Given the description of an element on the screen output the (x, y) to click on. 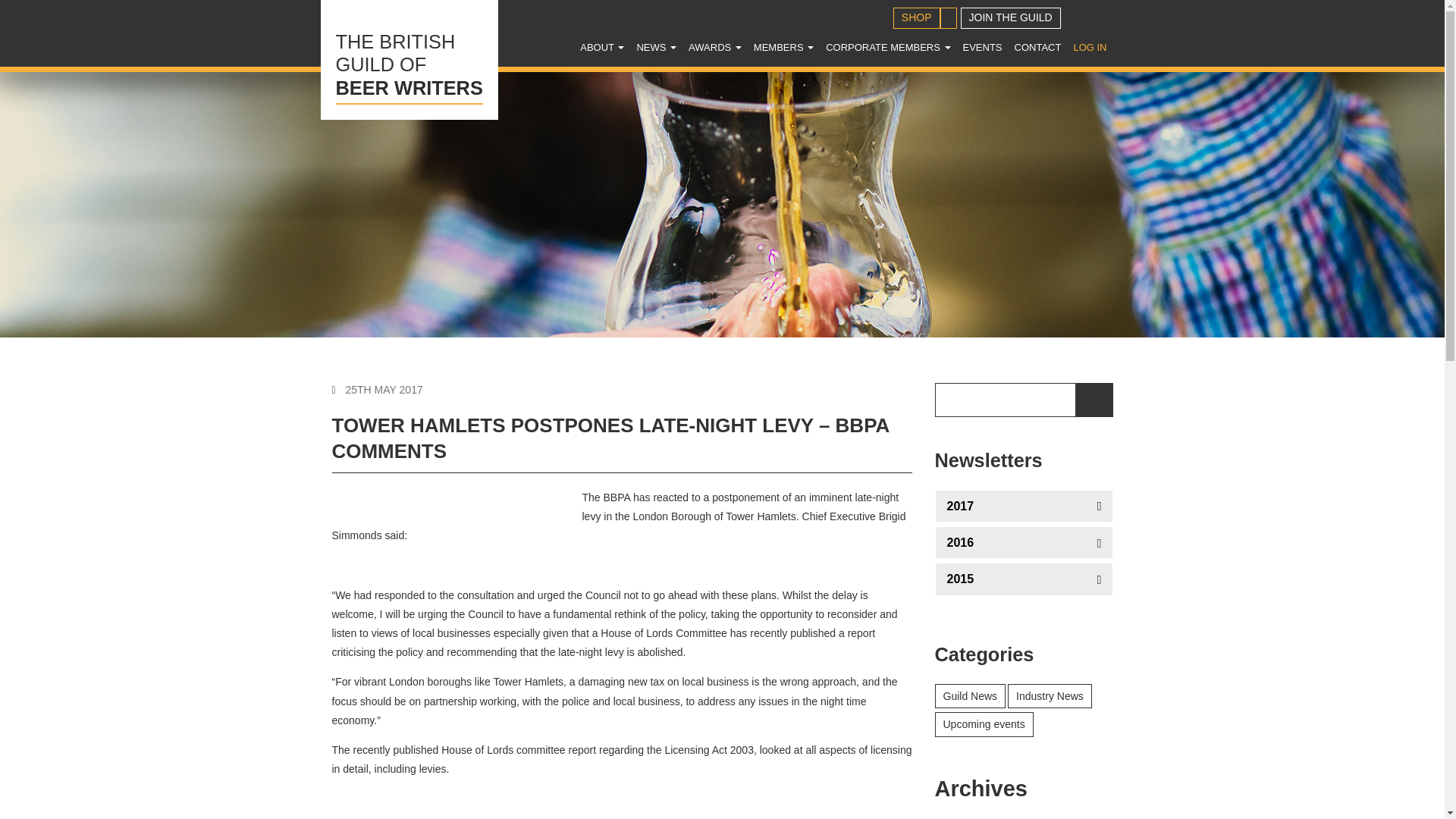
LOG IN (1089, 47)
News (656, 47)
CORPORATE MEMBERS (887, 47)
NEWS (656, 47)
MEMBERS (783, 47)
SHOP (916, 17)
JOIN THE GUILD (1010, 17)
About (601, 47)
Members (783, 47)
ABOUT (601, 47)
Awards (715, 47)
EVENTS (982, 47)
CONTACT (1038, 47)
AWARDS (408, 59)
